Given the description of an element on the screen output the (x, y) to click on. 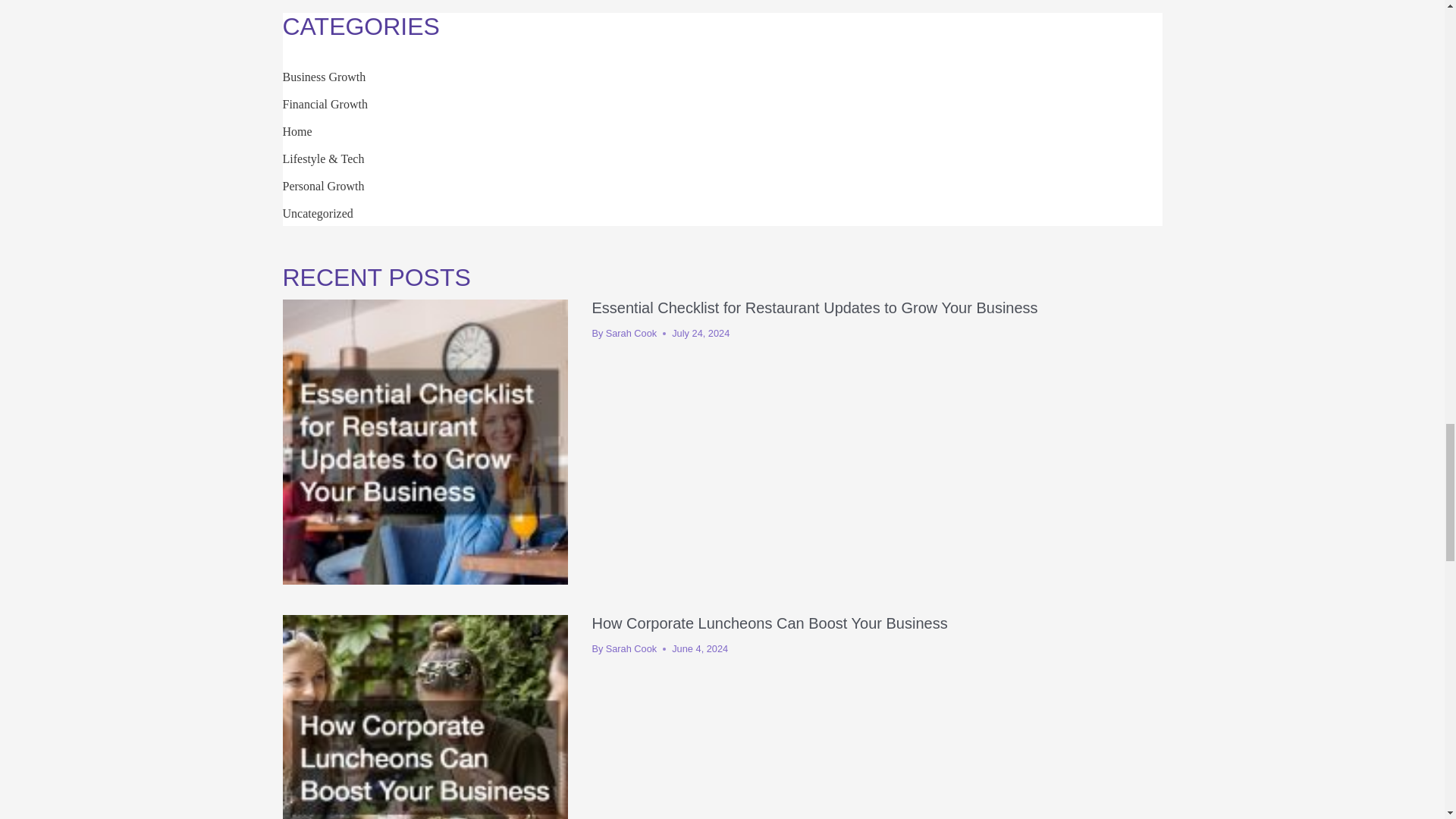
How Corporate Luncheons Can Boost Your Business (769, 623)
Business Growth (323, 76)
Financial Growth (324, 103)
Home (296, 131)
Personal Growth (323, 185)
Uncategorized (317, 213)
